Given the description of an element on the screen output the (x, y) to click on. 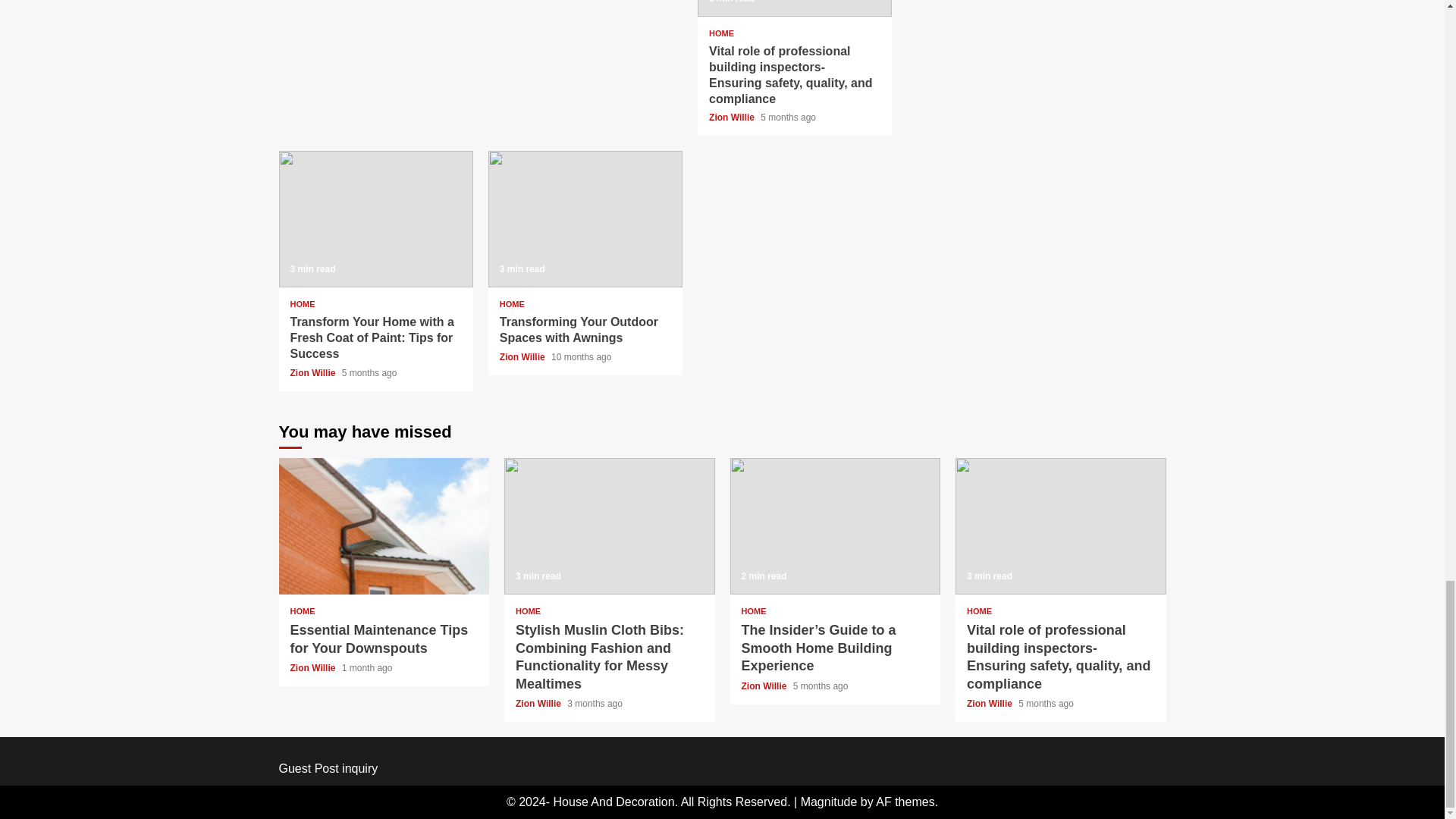
HOME (721, 33)
HOME (301, 304)
Zion Willie (733, 117)
